Given the description of an element on the screen output the (x, y) to click on. 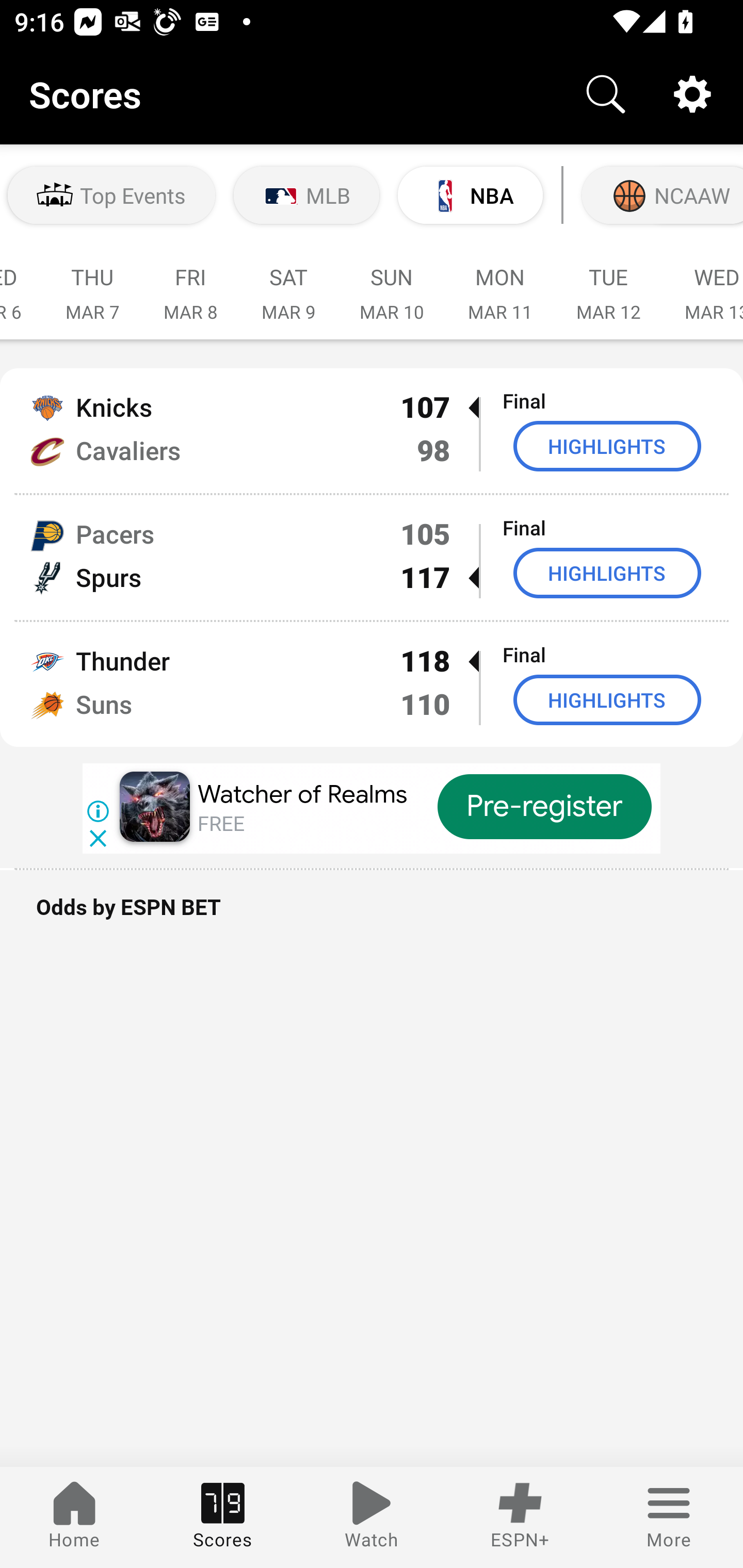
Search (605, 93)
Settings (692, 93)
 Top Events (111, 194)
MLB (306, 194)
NBA (470, 194)
NCAAW (660, 194)
THU MAR 7 (92, 283)
FRI MAR 8 (190, 283)
SAT MAR 9 (288, 283)
SUN MAR 10 (391, 283)
MON MAR 11 (499, 283)
TUE MAR 12 (608, 283)
WED MAR 13 (702, 283)
Knicks 107  Final Cavaliers 98 HIGHLIGHTS (371, 430)
HIGHLIGHTS (607, 445)
Pacers 105 Final Spurs 117  HIGHLIGHTS (371, 557)
HIGHLIGHTS (607, 572)
Thunder 118  Final Suns 110 HIGHLIGHTS (371, 684)
HIGHLIGHTS (607, 699)
Pre-register (544, 806)
Watcher of Realms (302, 793)
FREE (221, 823)
Odds by ESPN BET (371, 917)
Home (74, 1517)
Watch (371, 1517)
ESPN+ (519, 1517)
More (668, 1517)
